Given the description of an element on the screen output the (x, y) to click on. 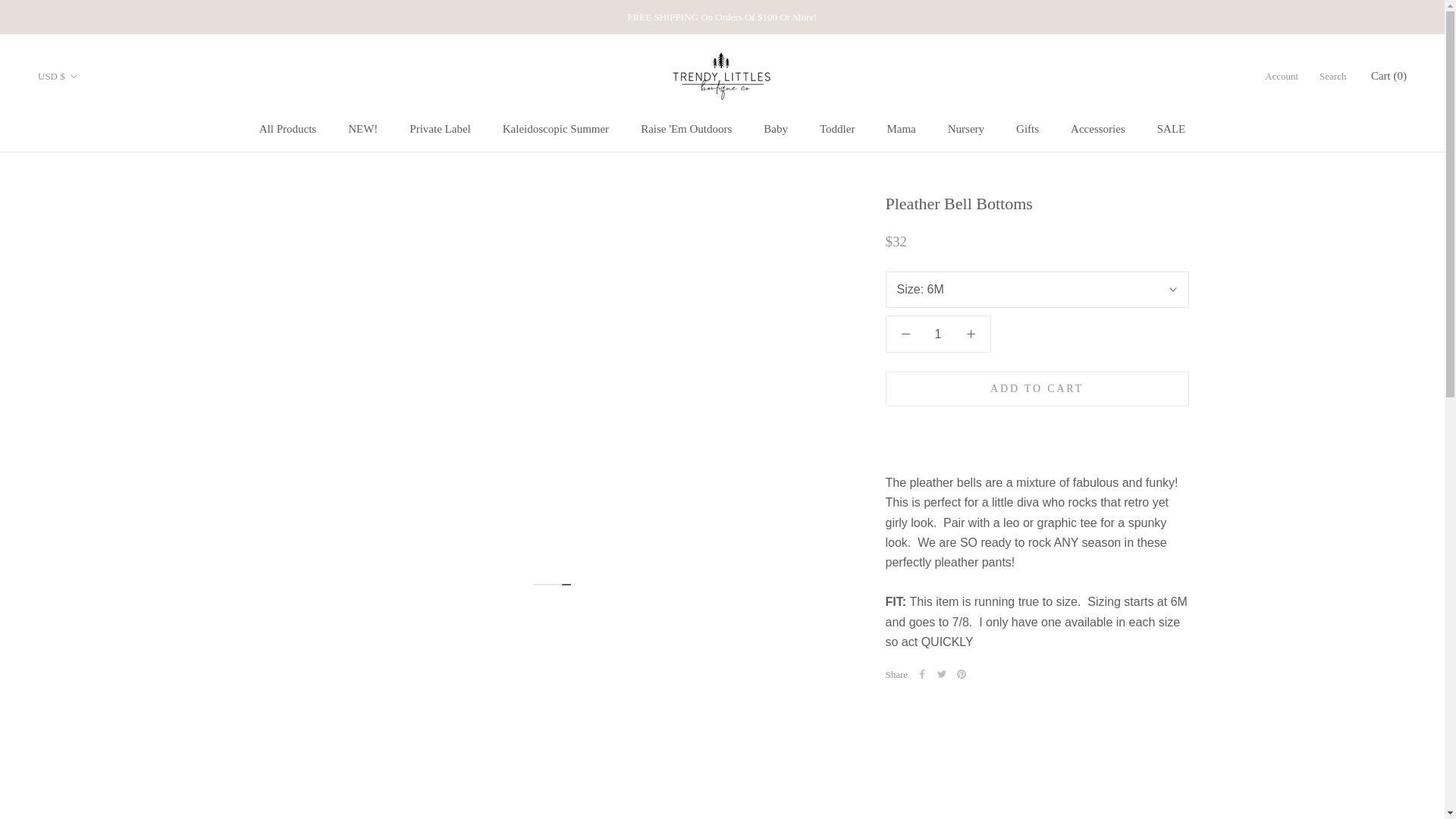
ANG (555, 128)
1 (439, 128)
